Given the description of an element on the screen output the (x, y) to click on. 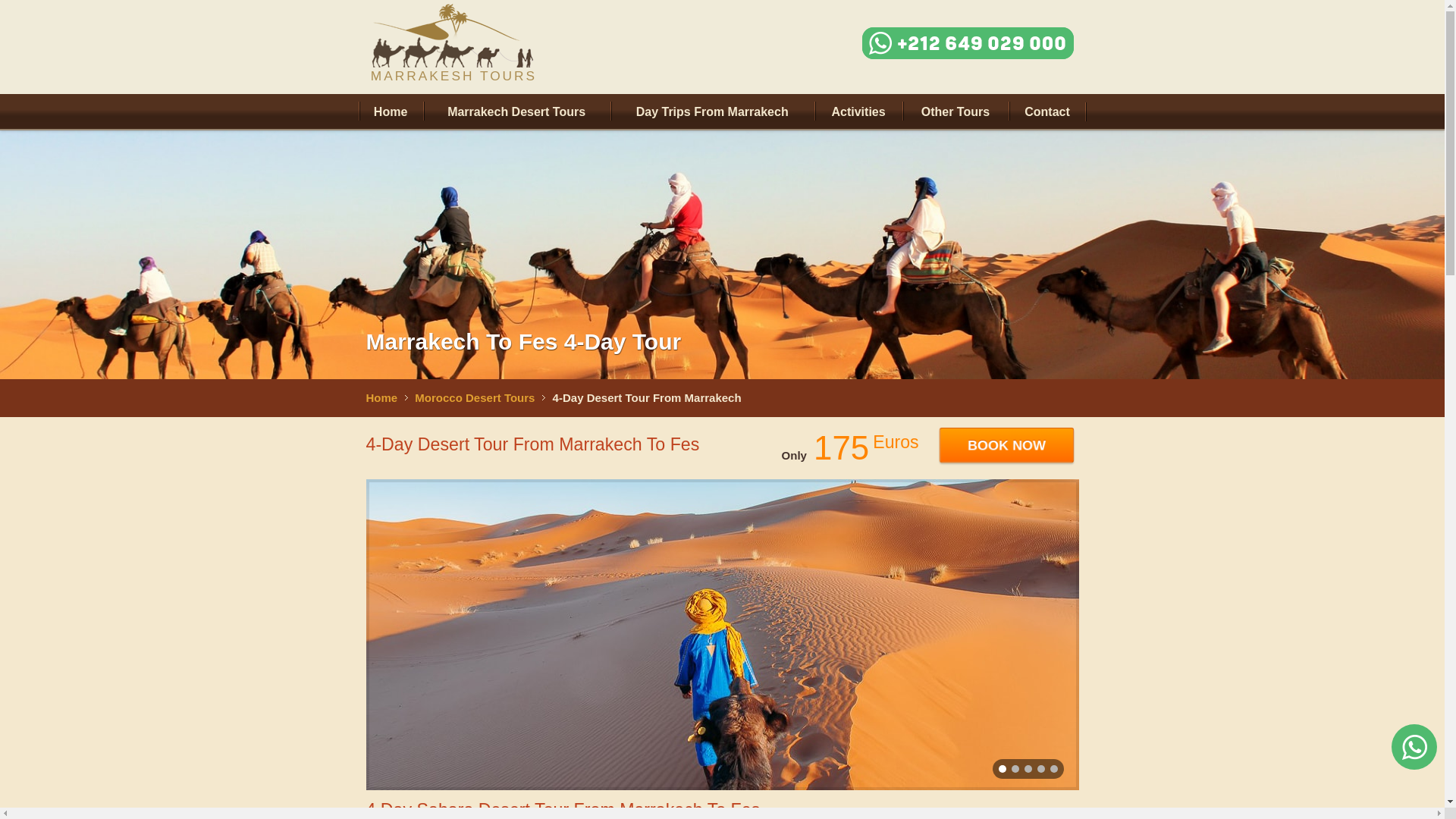
Home (390, 112)
2 (1026, 768)
4 (1053, 768)
Desert tour from Marrakech (453, 35)
Contact (1047, 112)
BOOK NOW (1006, 444)
Marrakech Desert Tours (516, 112)
3 (1040, 768)
Activities (857, 112)
0 (1001, 768)
1 (1015, 768)
Other Tours (954, 112)
Morocco Desert Tours (479, 397)
Day Trips From Marrakech (711, 112)
Home (386, 397)
